Given the description of an element on the screen output the (x, y) to click on. 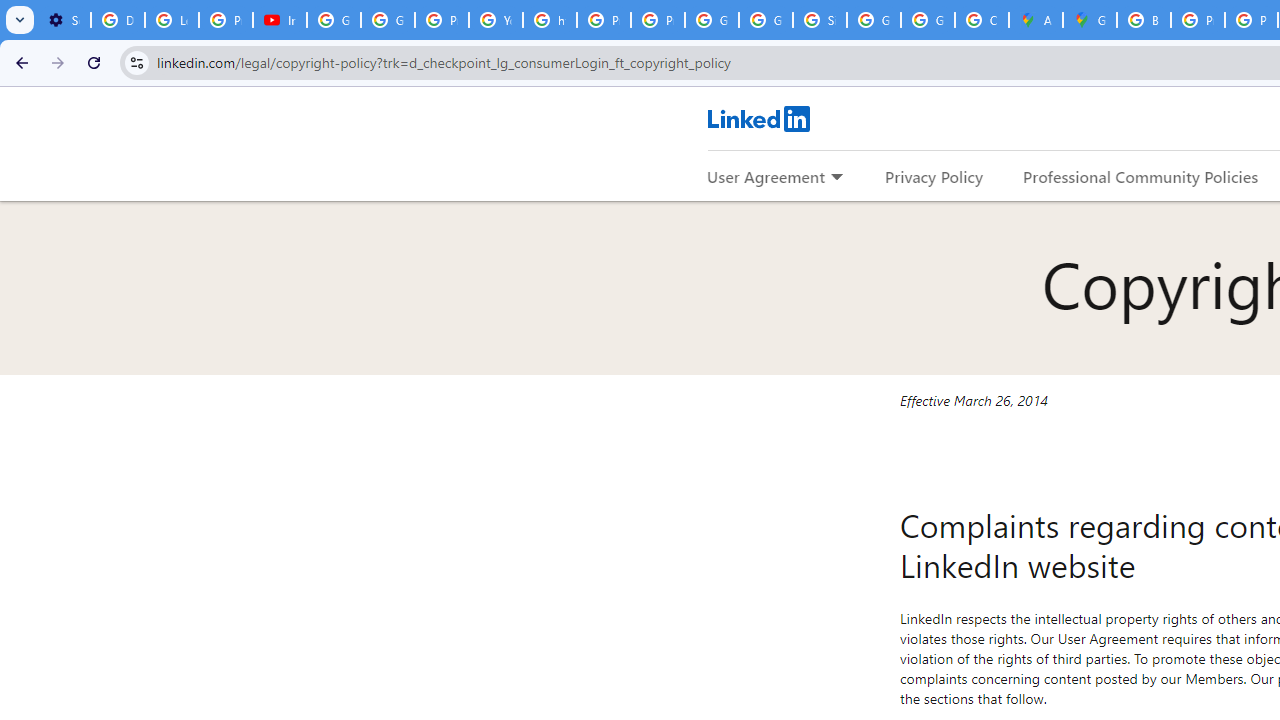
Create your Google Account (981, 20)
Introduction | Google Privacy Policy - YouTube (280, 20)
Privacy Help Center - Policies Help (604, 20)
YouTube (495, 20)
Google Maps (1089, 20)
Google Account Help (333, 20)
Professional Community Policies (1140, 176)
Expand to show more links for User Agreement (836, 178)
